Given the description of an element on the screen output the (x, y) to click on. 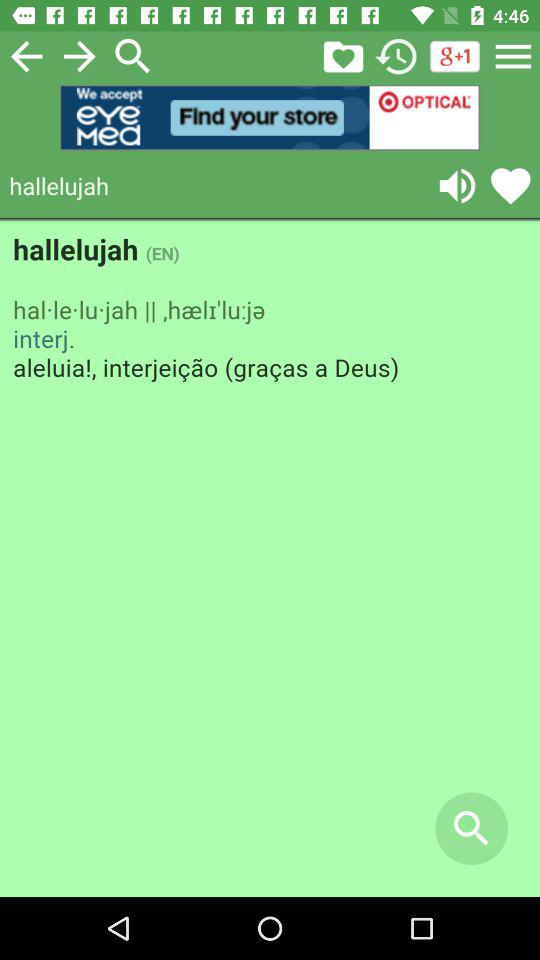
find your store (270, 117)
